Given the description of an element on the screen output the (x, y) to click on. 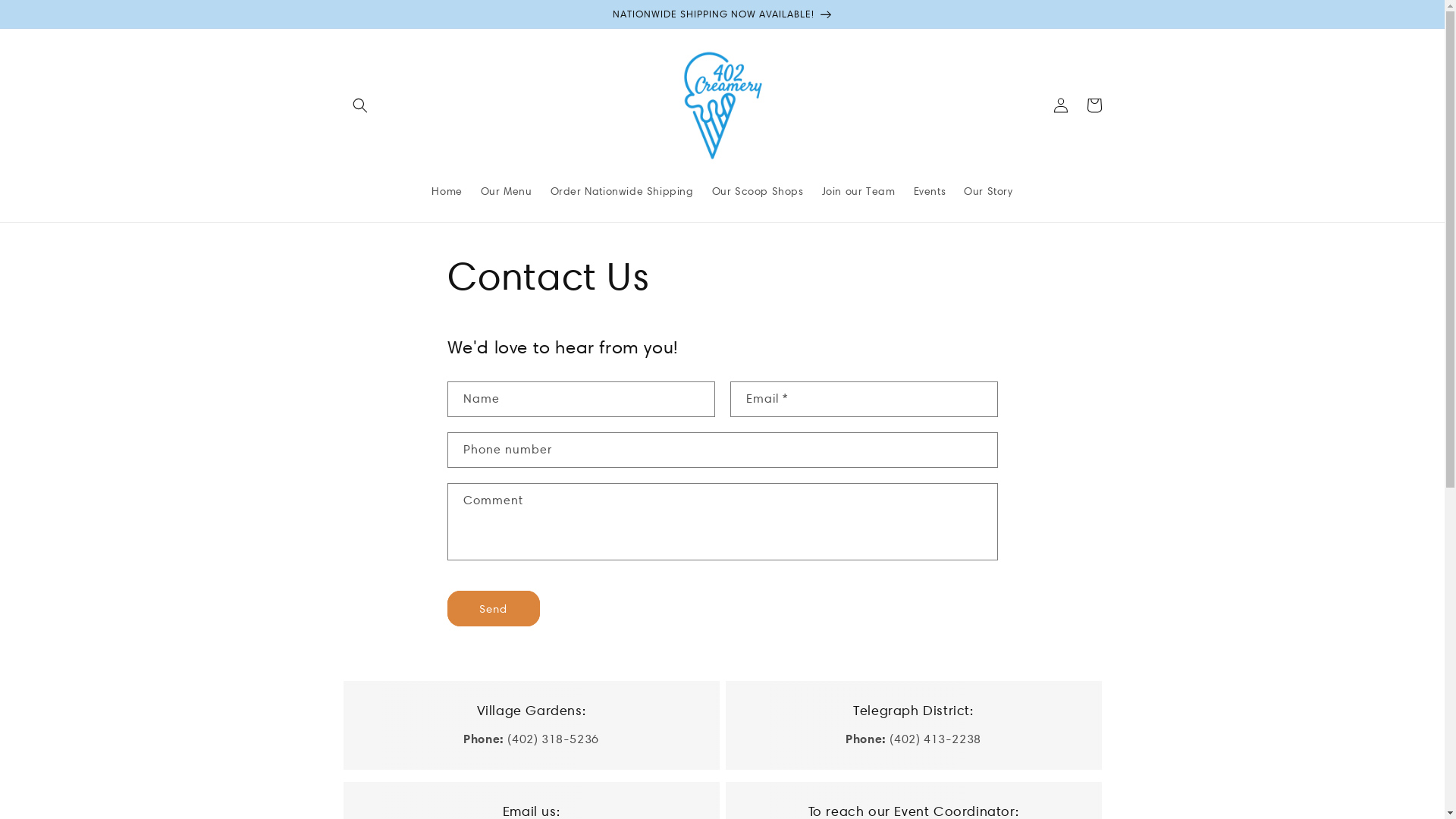
Order Nationwide Shipping Element type: text (621, 191)
Our Story Element type: text (987, 191)
Send Element type: text (493, 608)
NATIONWIDE SHIPPING NOW AVAILABLE! Element type: text (722, 14)
Join our Team Element type: text (858, 191)
Home Element type: text (446, 191)
Our Menu Element type: text (506, 191)
Cart Element type: text (1093, 105)
Events Element type: text (928, 191)
Our Scoop Shops Element type: text (757, 191)
Log in Element type: text (1059, 105)
